Given the description of an element on the screen output the (x, y) to click on. 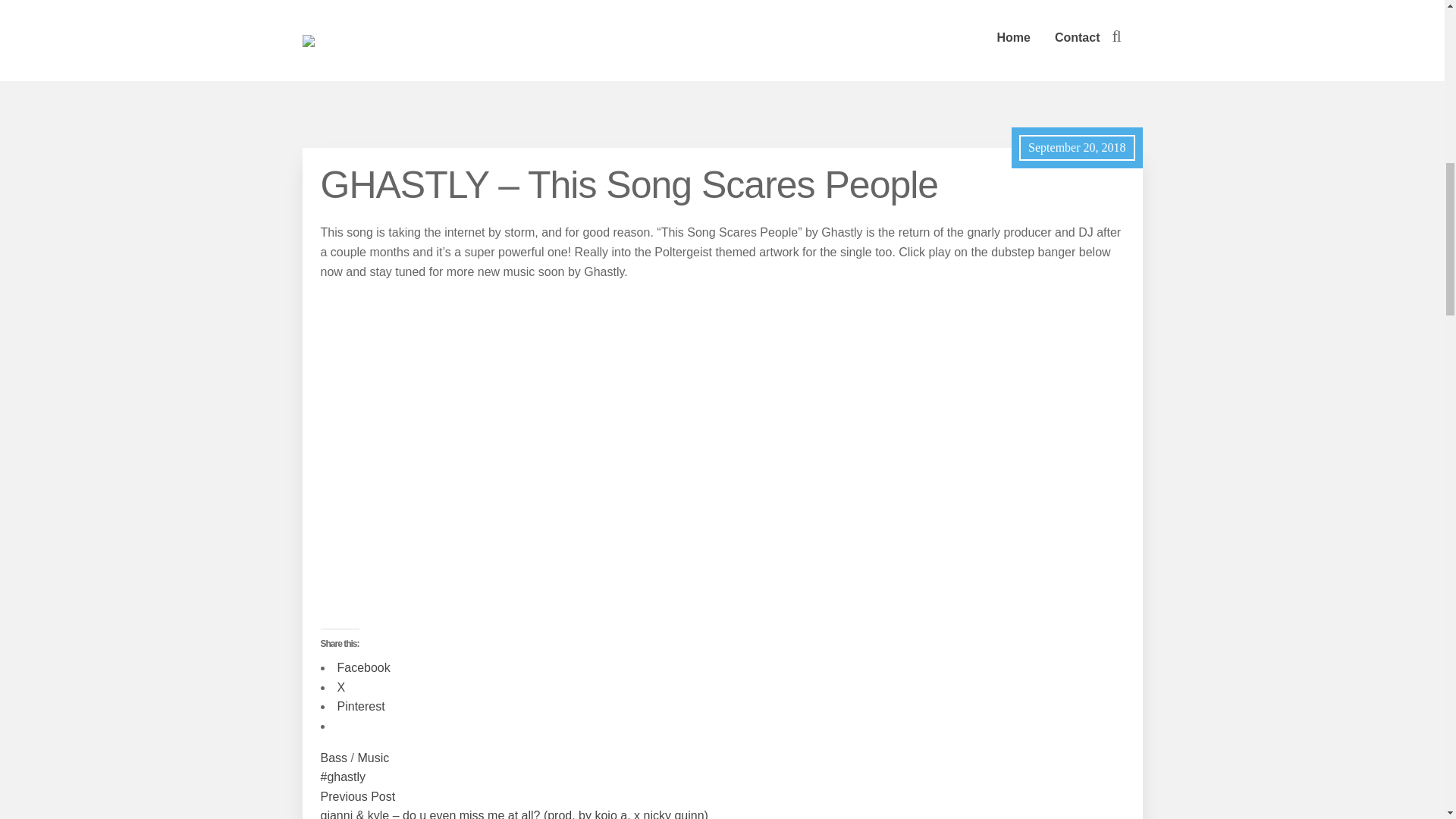
Previous Post (357, 796)
Click to share on Pinterest (360, 706)
Pinterest (360, 706)
Click to share on Facebook (363, 667)
Facebook (363, 667)
Bass (333, 757)
Music (372, 757)
